Given the description of an element on the screen output the (x, y) to click on. 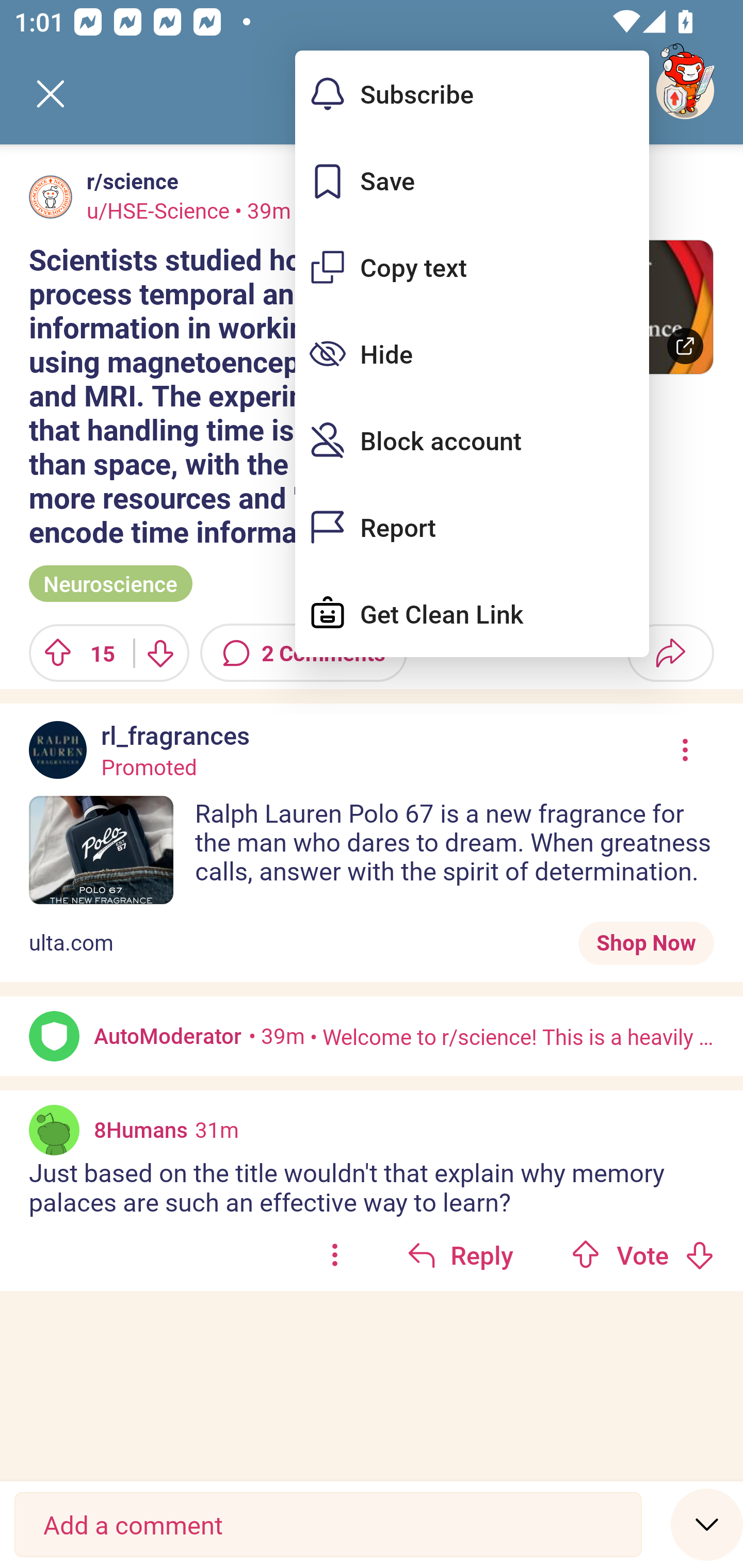
Subscribe (471, 93)
Save (471, 180)
Copy text (471, 267)
Hide (471, 353)
Block account (471, 440)
Report (471, 527)
Get Clean Link (471, 613)
